Given the description of an element on the screen output the (x, y) to click on. 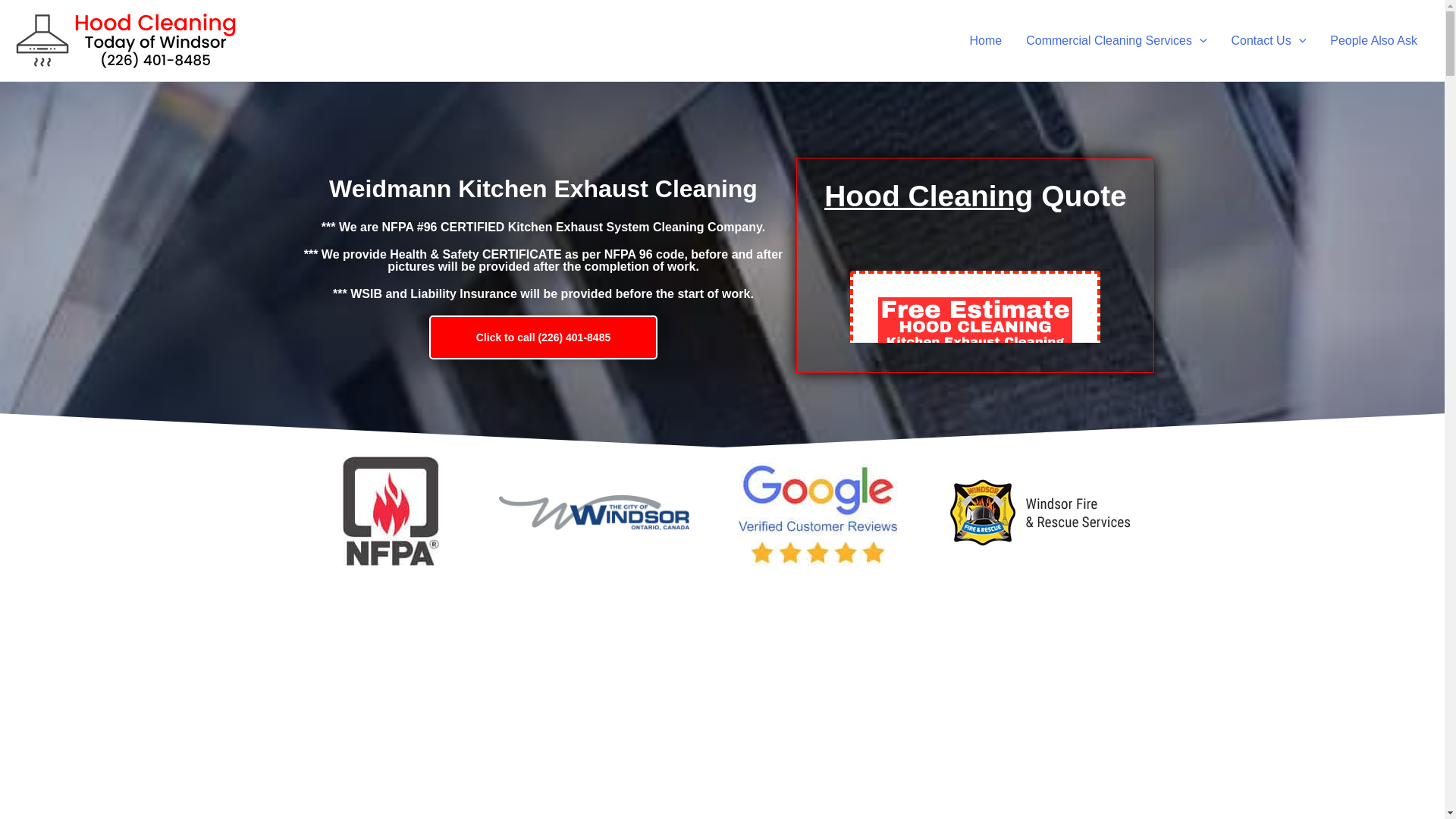
Home (984, 39)
Hood Cleaning (928, 195)
Commercial Cleaning Services (1115, 39)
Contact Us (1269, 39)
People Also Ask (1373, 39)
